Given the description of an element on the screen output the (x, y) to click on. 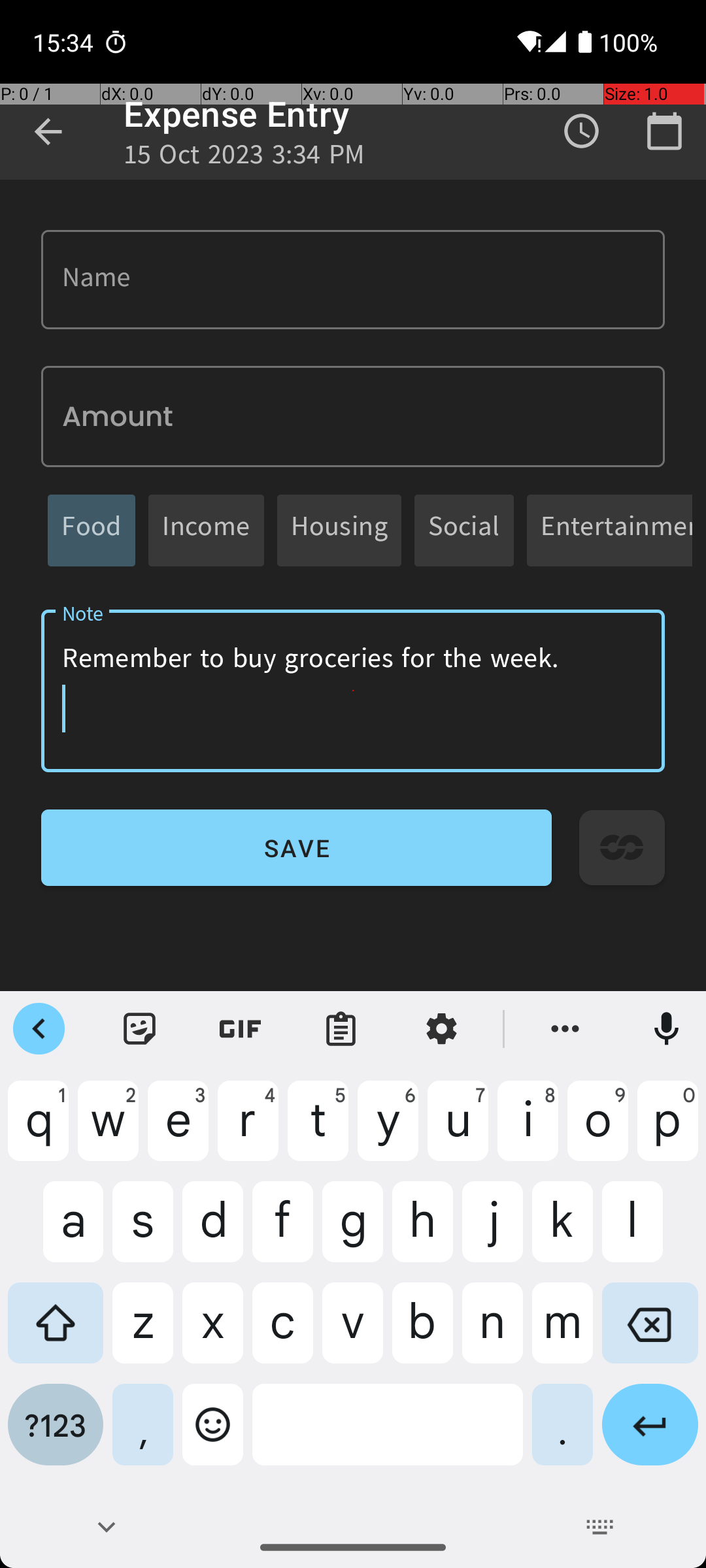
Remember to buy groceries for the week.
 Element type: android.widget.EditText (352, 690)
